Given the description of an element on the screen output the (x, y) to click on. 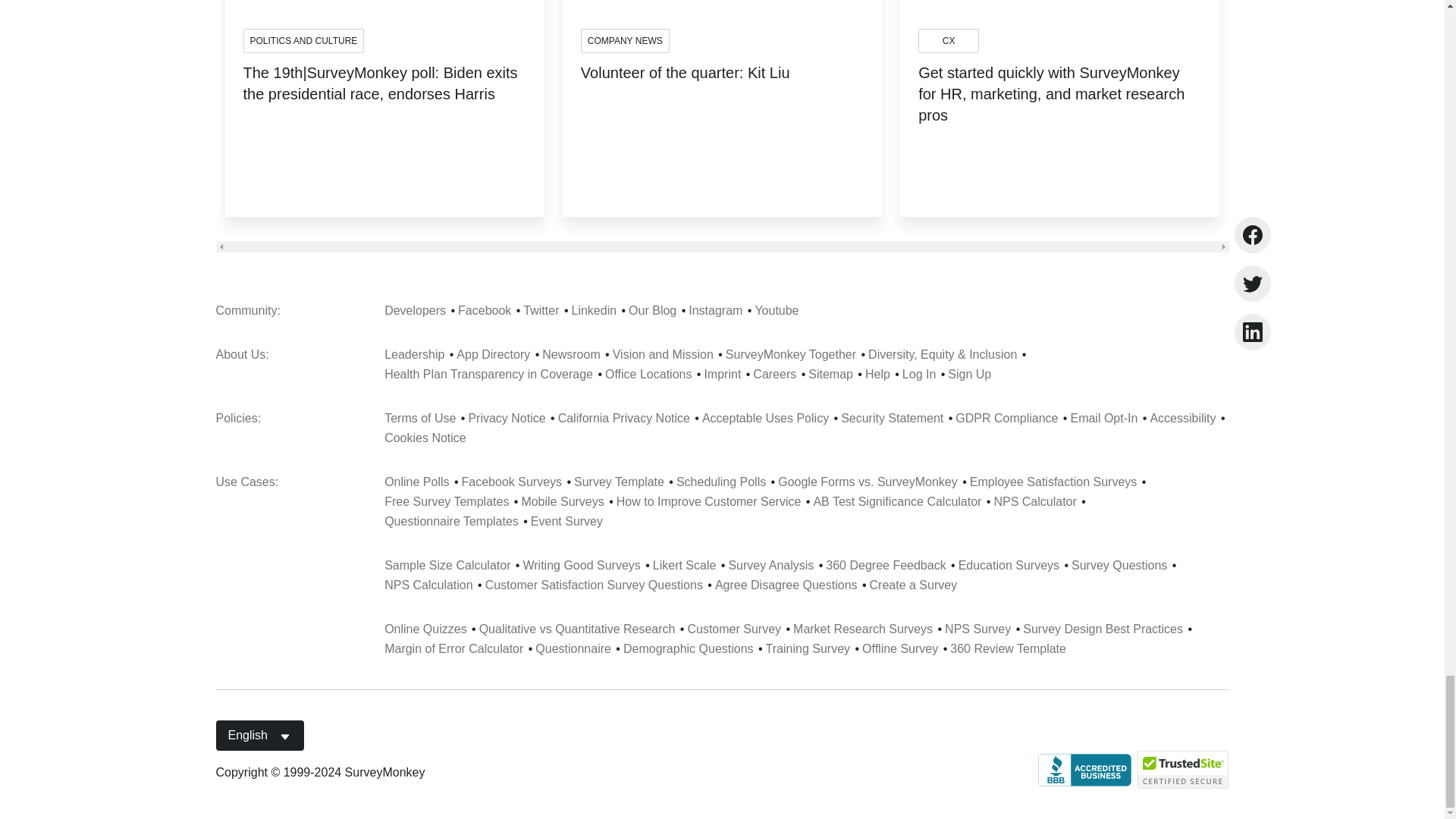
COMPANY NEWS (624, 40)
TrustedSite logo (1182, 769)
POLITICS AND CULTURE (303, 40)
Volunteer of the quarter: Kit Liu (685, 87)
Volunteer of the quarter: Kit Liu (685, 87)
BBB credentials logo (1084, 769)
